Given the description of an element on the screen output the (x, y) to click on. 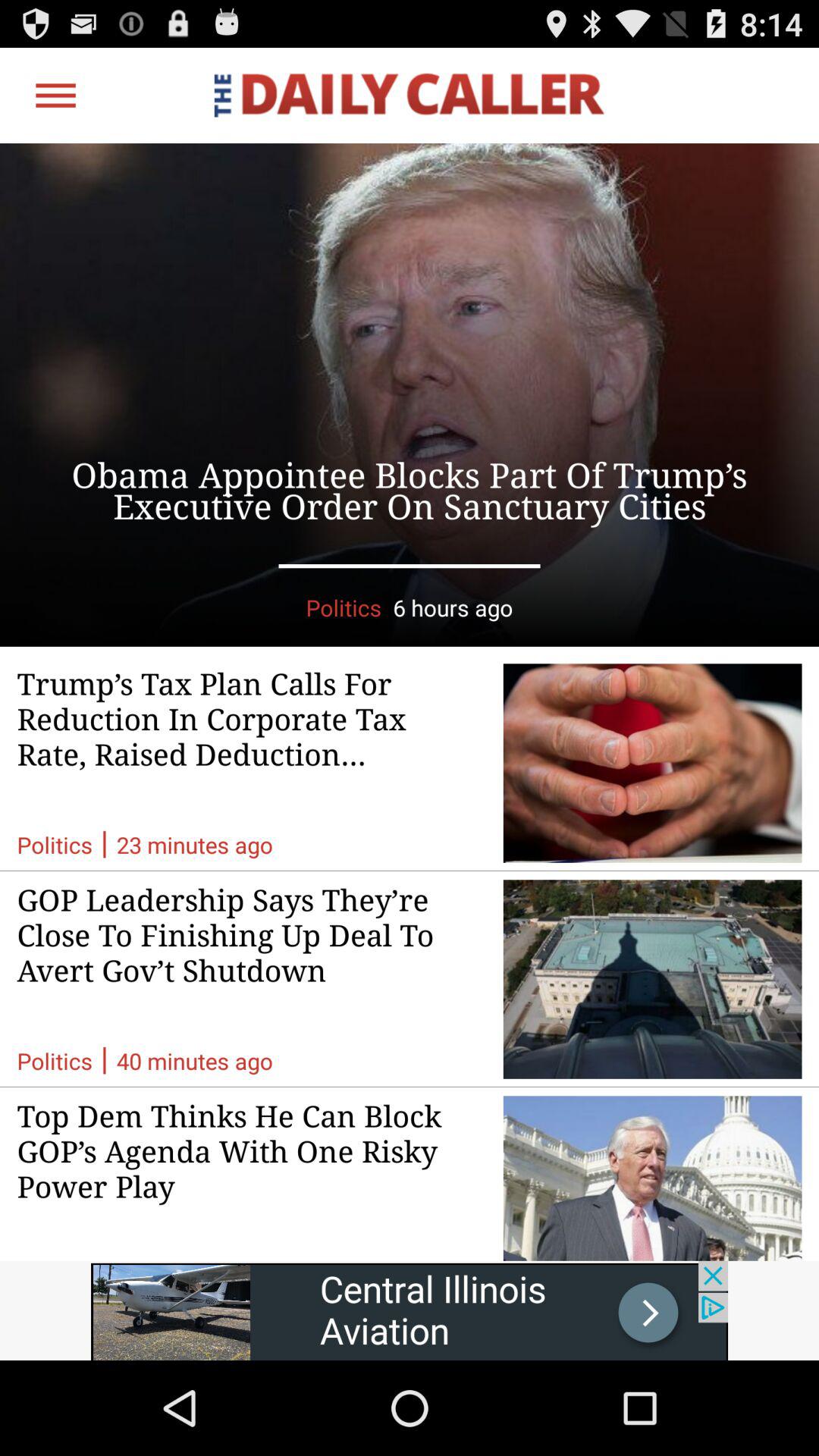
show menu (55, 95)
